Given the description of an element on the screen output the (x, y) to click on. 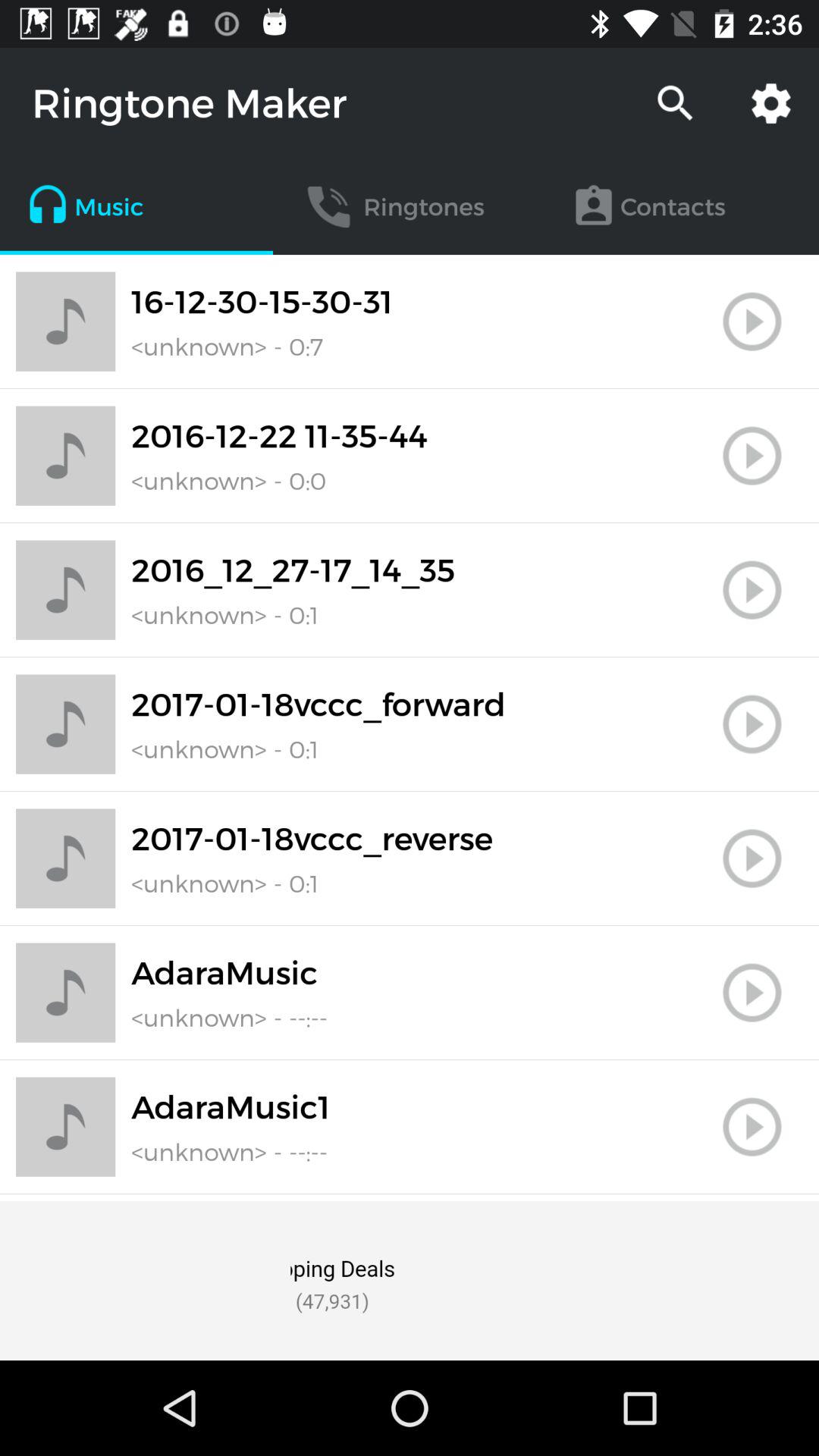
go to play (752, 590)
